Given the description of an element on the screen output the (x, y) to click on. 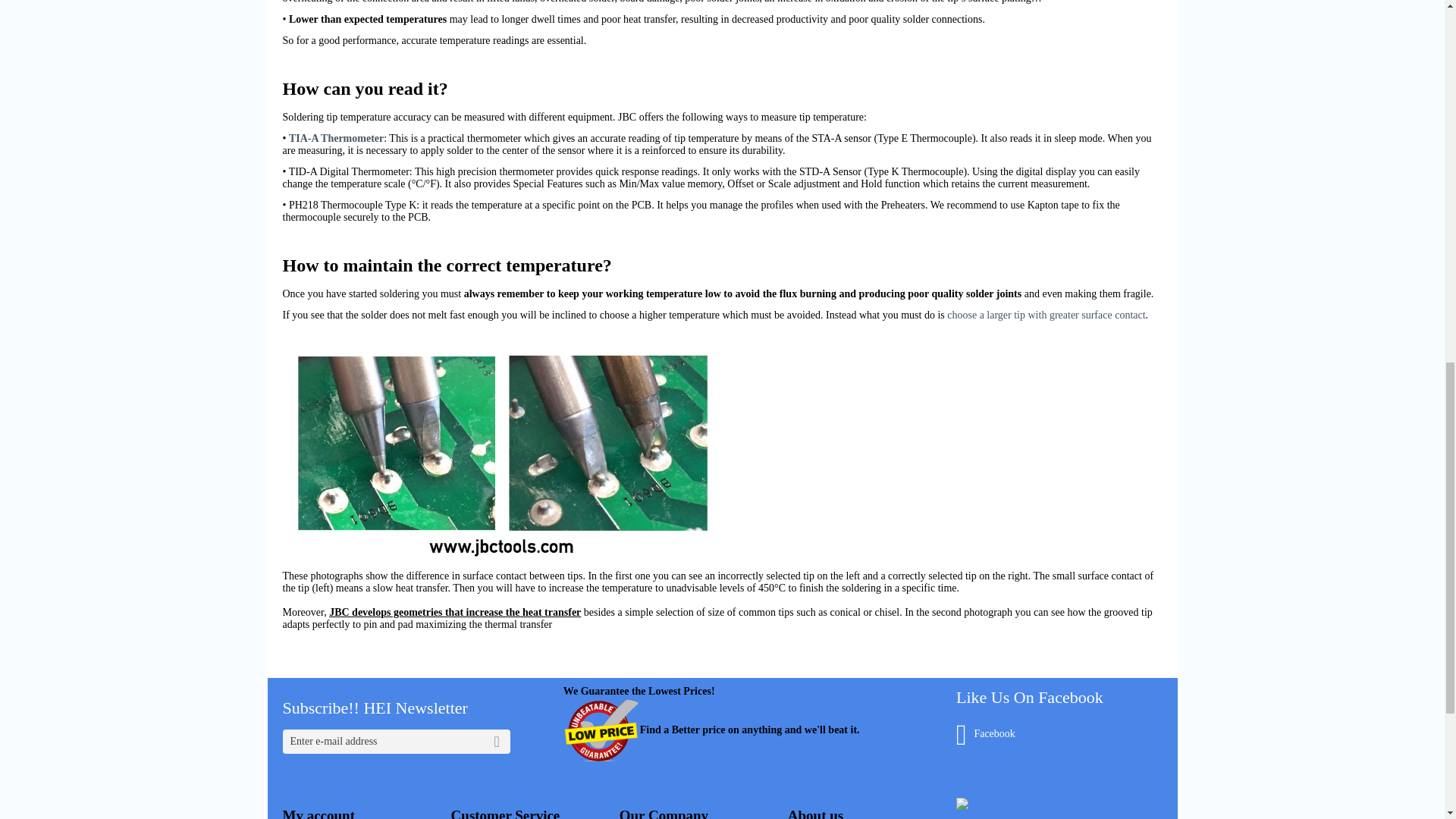
Enter e-mail address (395, 741)
SiteLock (962, 803)
Go (496, 741)
